Given the description of an element on the screen output the (x, y) to click on. 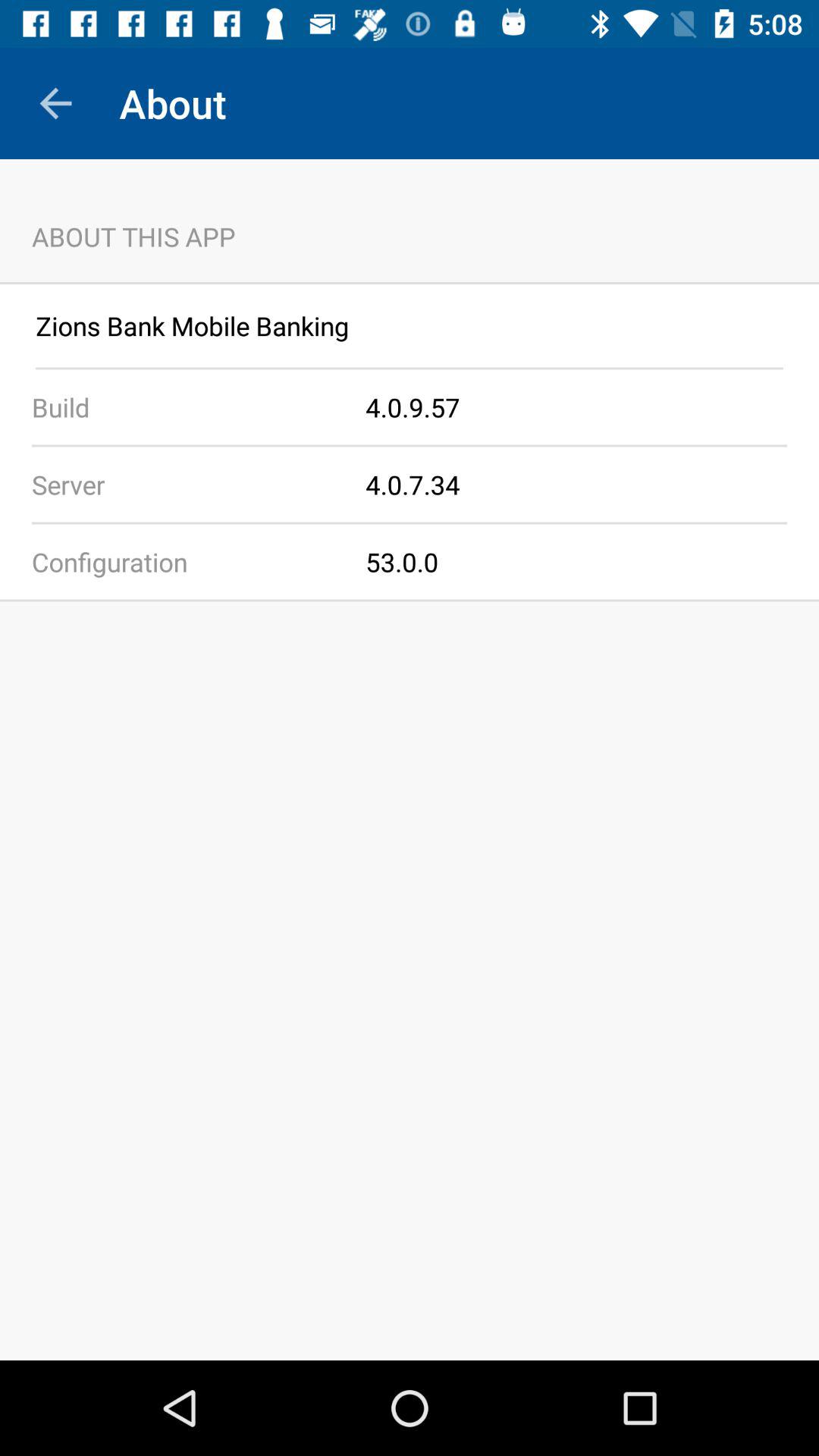
select app above about this app (55, 103)
